Given the description of an element on the screen output the (x, y) to click on. 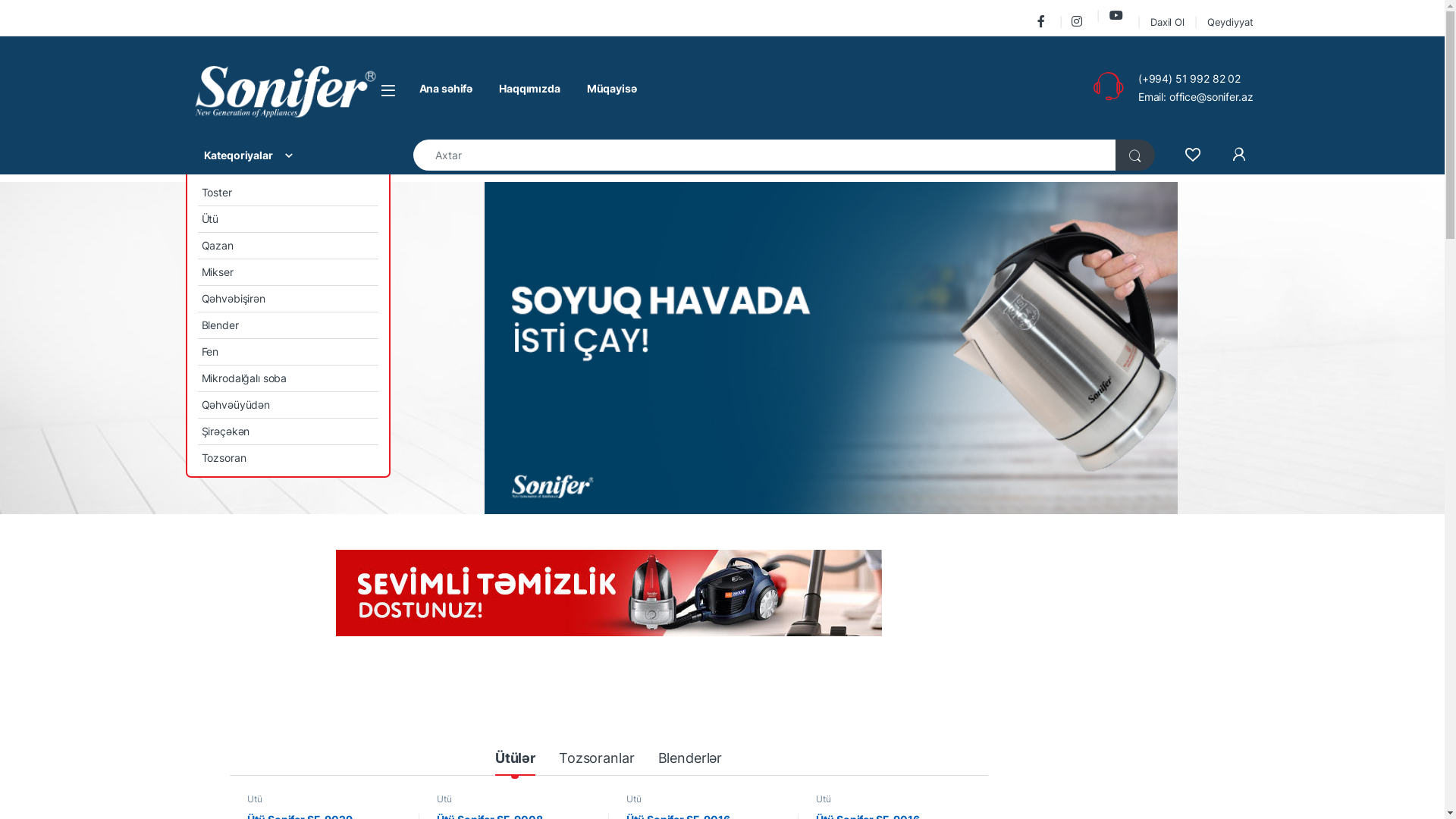
Blender Element type: text (287, 325)
Toster Element type: text (287, 192)
Fen Element type: text (287, 351)
Mikser Element type: text (287, 272)
Qazan Element type: text (287, 245)
Daxil Ol Element type: text (1167, 21)
Tozsoran Element type: text (287, 457)
(+994) 51 992 82 02 Element type: text (1189, 78)
Kateqoriyalar Element type: text (287, 155)
Youtube Element type: text (1118, 15)
Tozsoranlar Element type: text (595, 760)
office@sonifer.az Element type: text (1211, 96)
Qeydiyyat Element type: text (1230, 21)
